Given the description of an element on the screen output the (x, y) to click on. 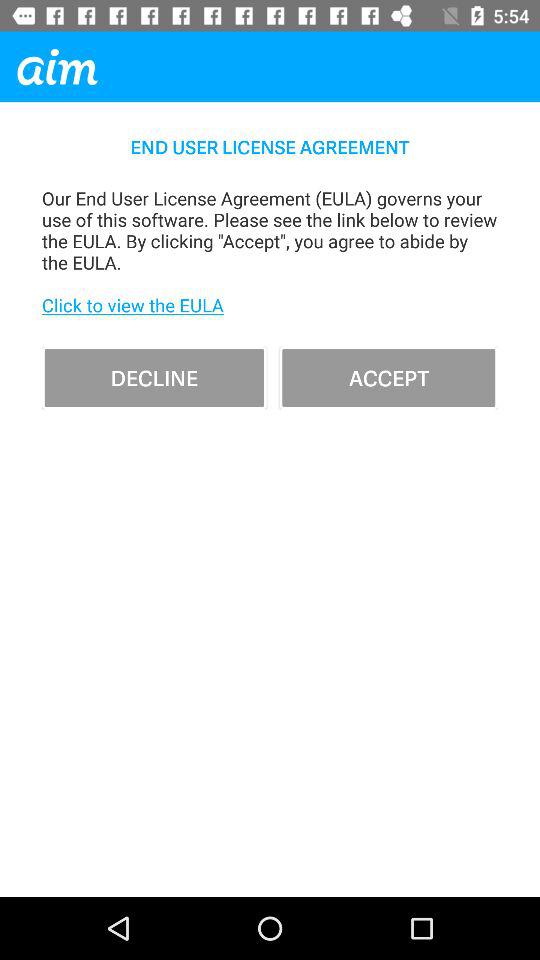
select button next to accept item (154, 377)
